Given the description of an element on the screen output the (x, y) to click on. 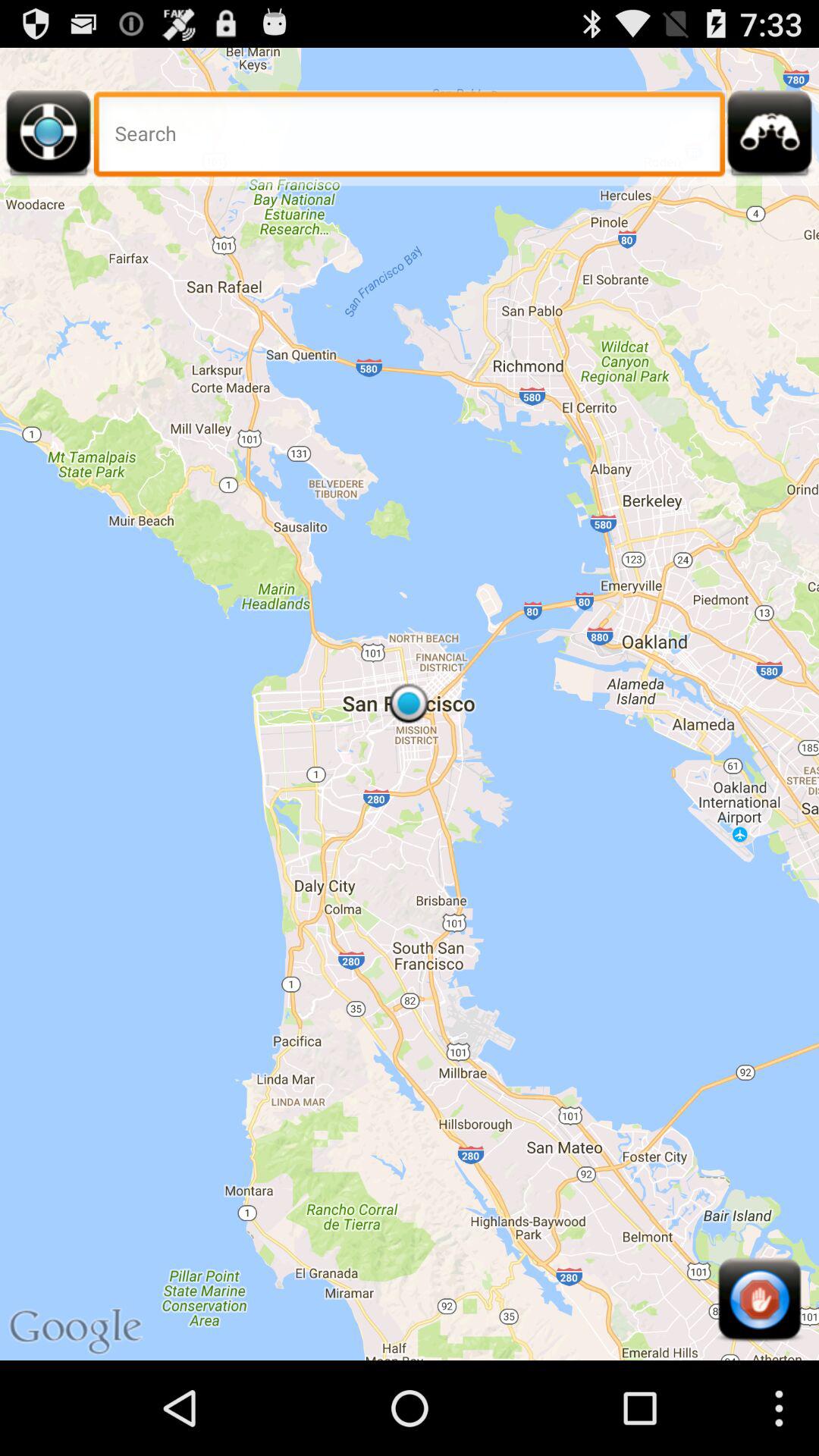
seek current location (48, 137)
